Given the description of an element on the screen output the (x, y) to click on. 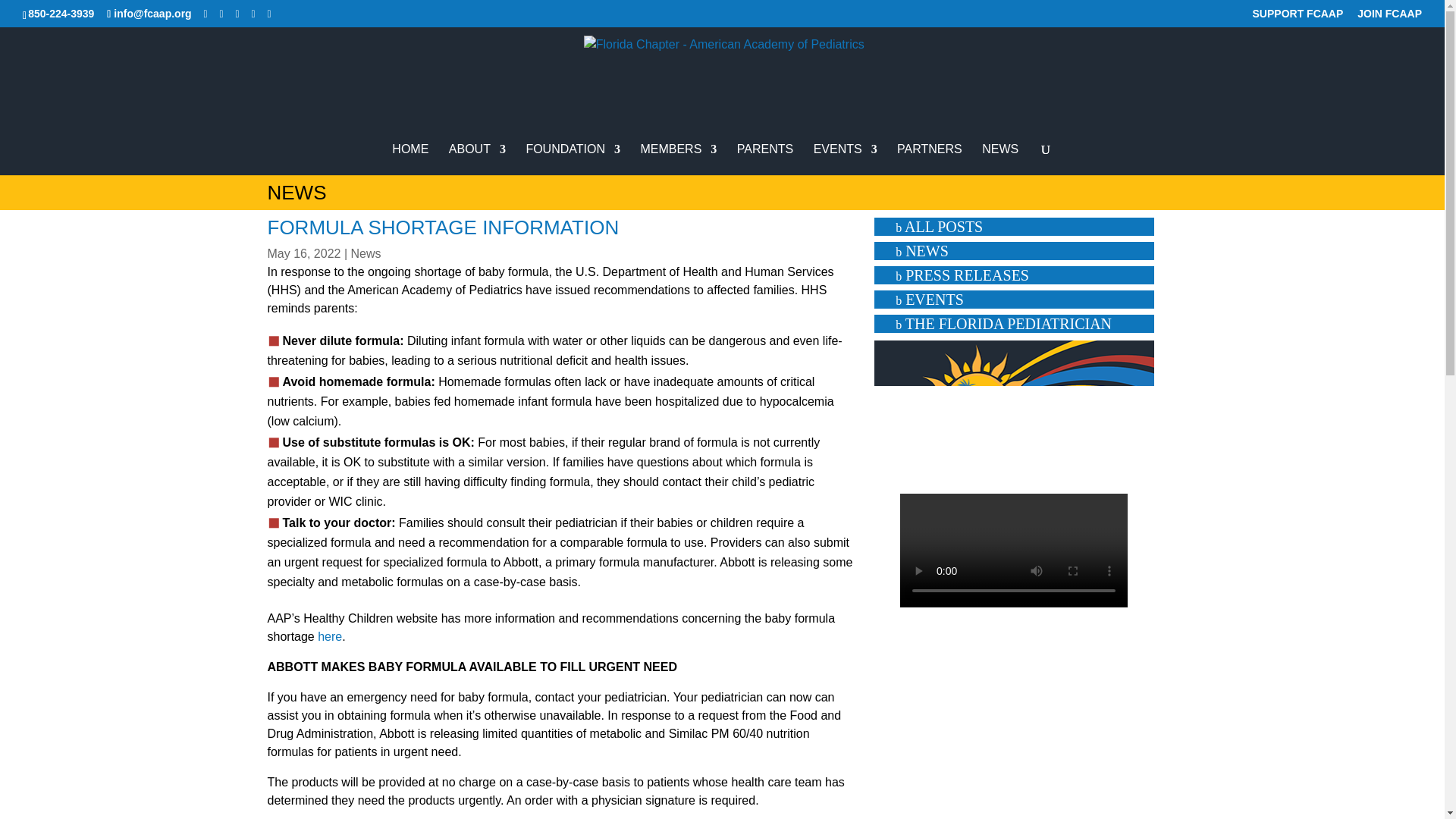
PARTNERS (929, 159)
MEMBERS (678, 159)
PARENTS (764, 159)
SUPPORT FCAAP (1297, 16)
HOME (409, 159)
FOUNDATION (572, 159)
EVENTS (845, 159)
850-224-3939 (60, 13)
NEWS (999, 159)
JOIN FCAAP (1389, 16)
ABOUT (476, 159)
